Given the description of an element on the screen output the (x, y) to click on. 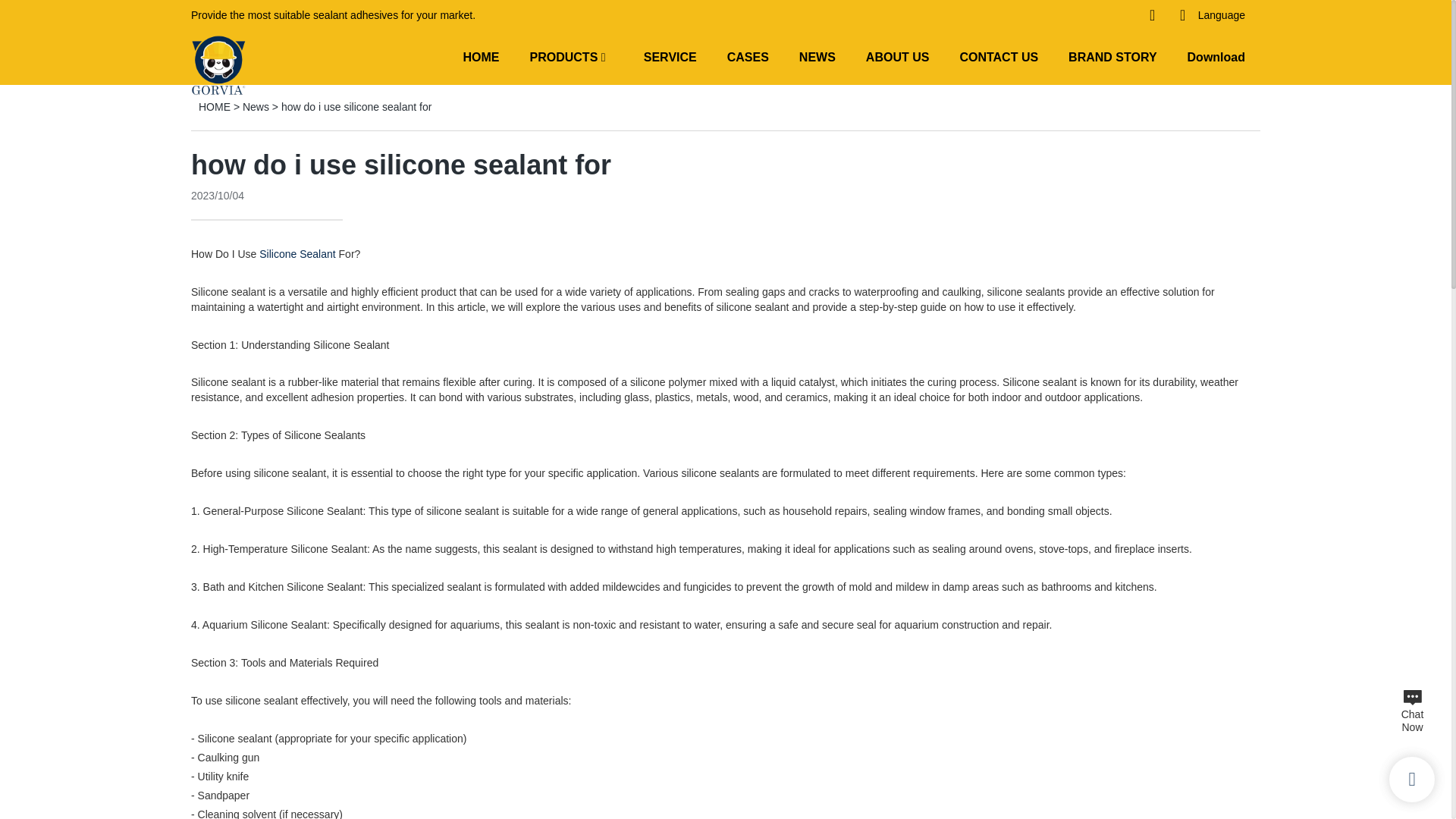
PRODUCTS (563, 56)
HOME (481, 56)
Silicone Sealant (296, 254)
